Given the description of an element on the screen output the (x, y) to click on. 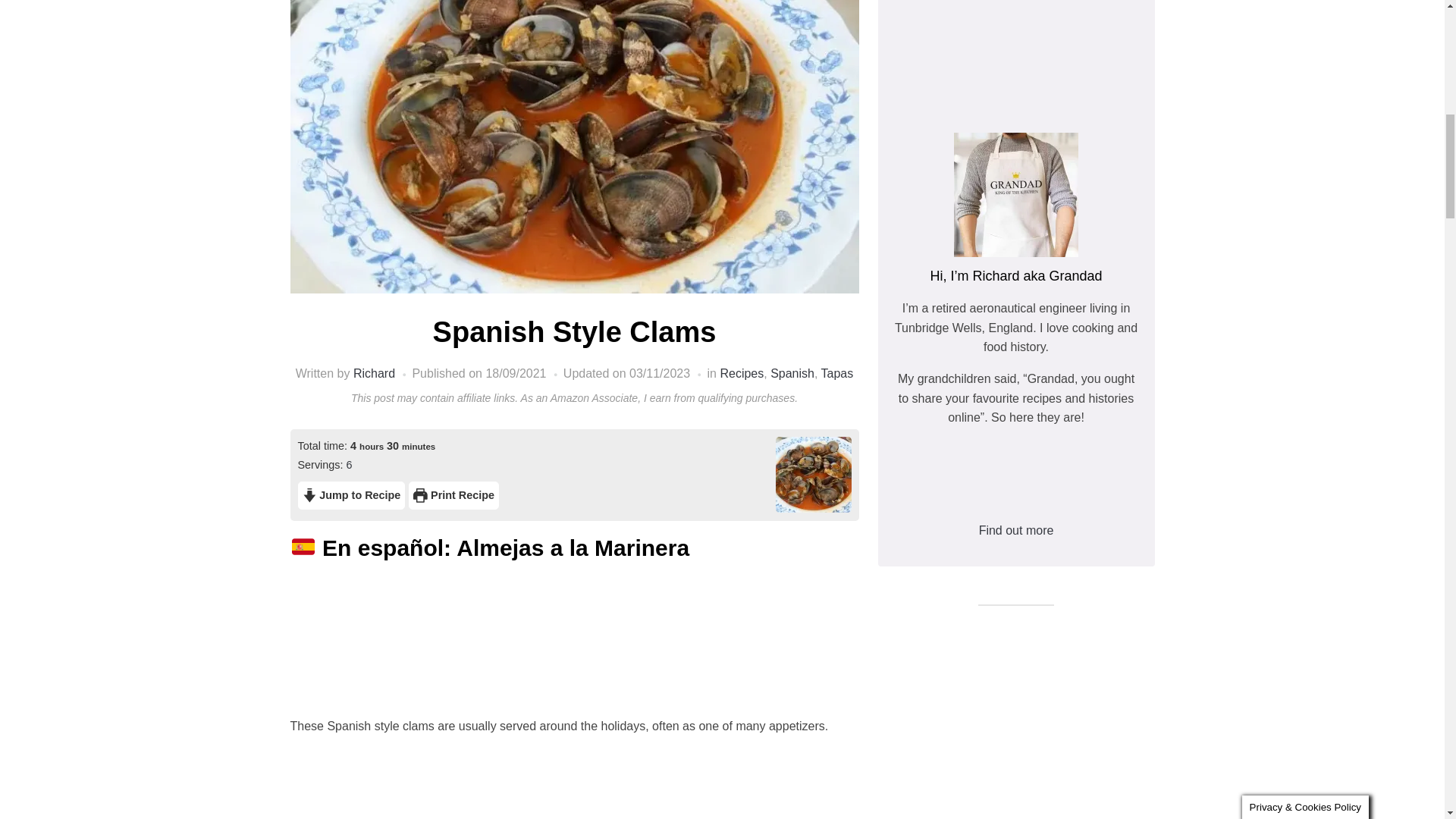
Posts by Richard (373, 373)
